Given the description of an element on the screen output the (x, y) to click on. 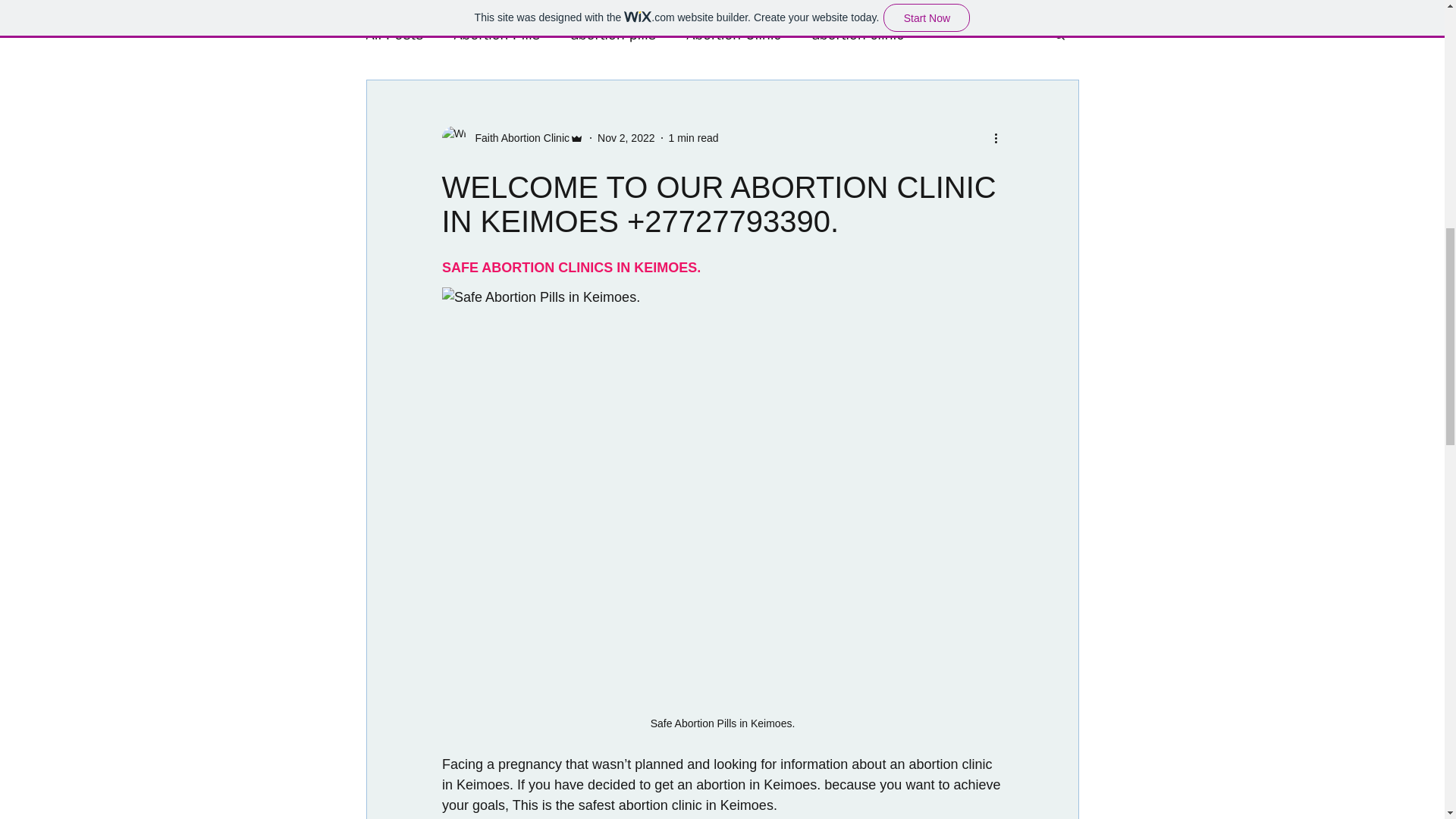
Faith Abortion Clinic (517, 138)
1 min read (693, 137)
Nov 2, 2022 (625, 137)
